Given the description of an element on the screen output the (x, y) to click on. 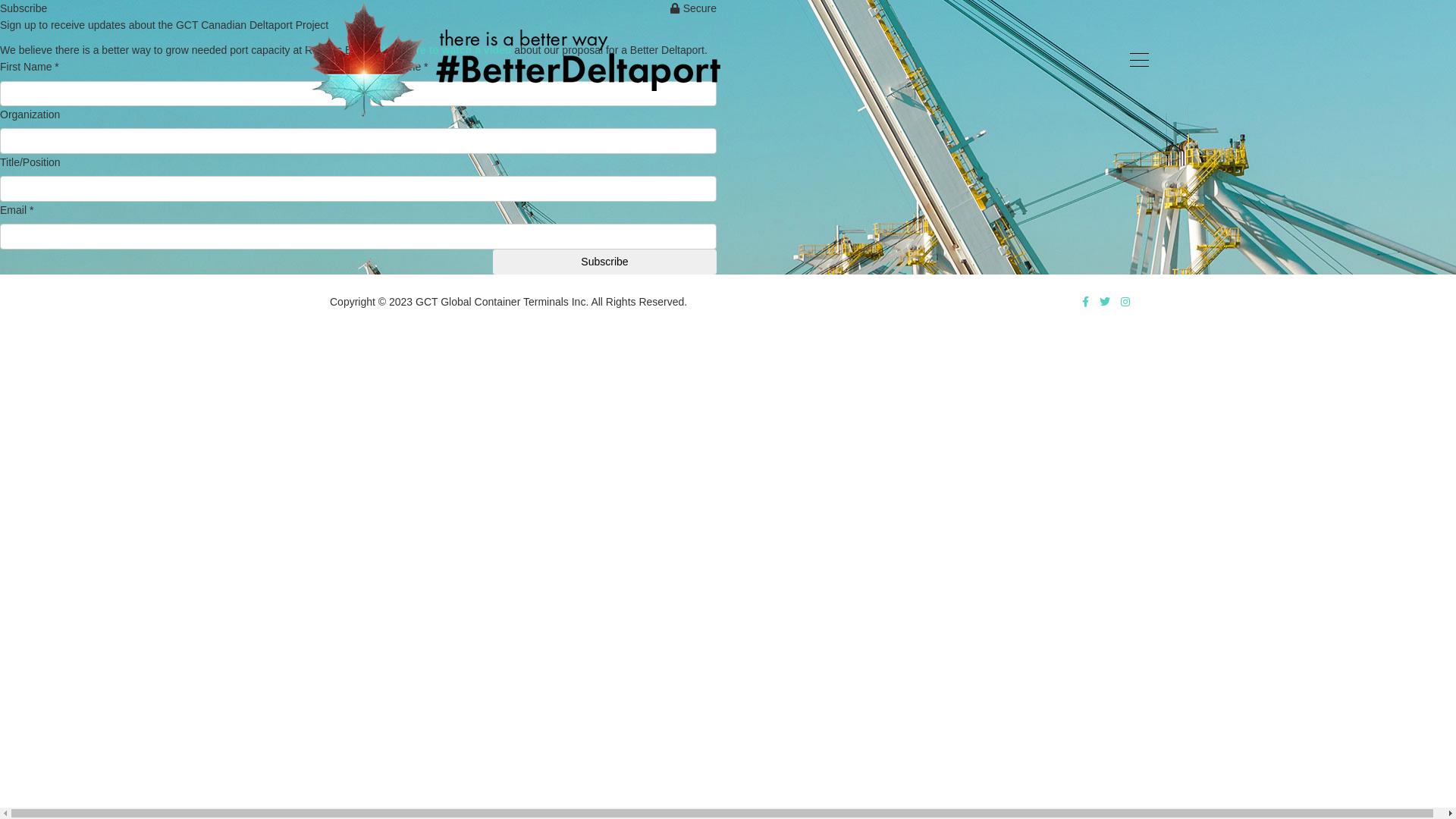
Click here to watch a video Element type: text (444, 49)
Subscribe Element type: text (604, 262)
